Given the description of an element on the screen output the (x, y) to click on. 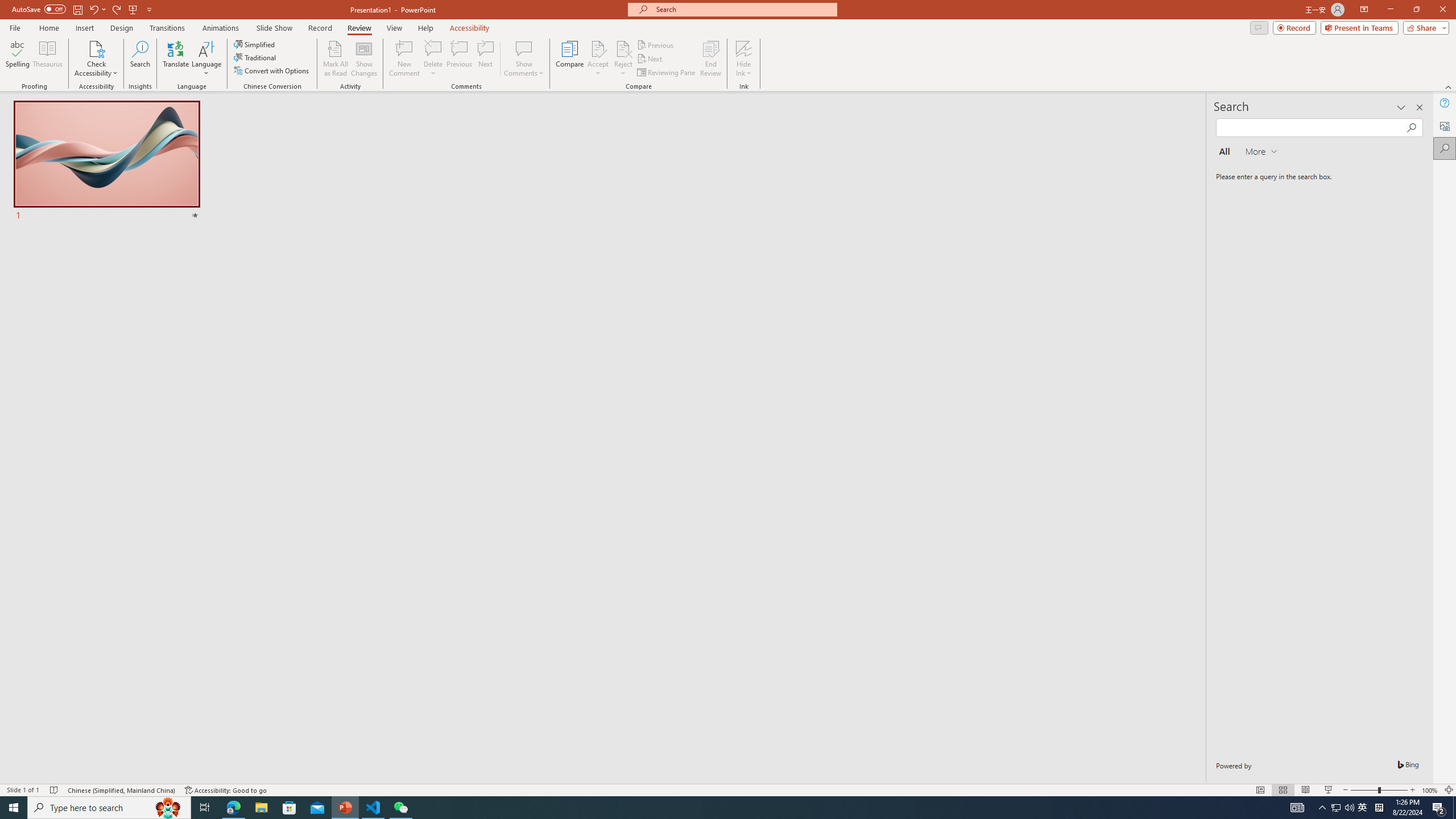
Mark All as Read (335, 58)
Reviewing Pane (666, 72)
Language (206, 58)
Reject (622, 58)
Accept (598, 58)
Convert with Options... (272, 69)
New Comment (403, 58)
